Given the description of an element on the screen output the (x, y) to click on. 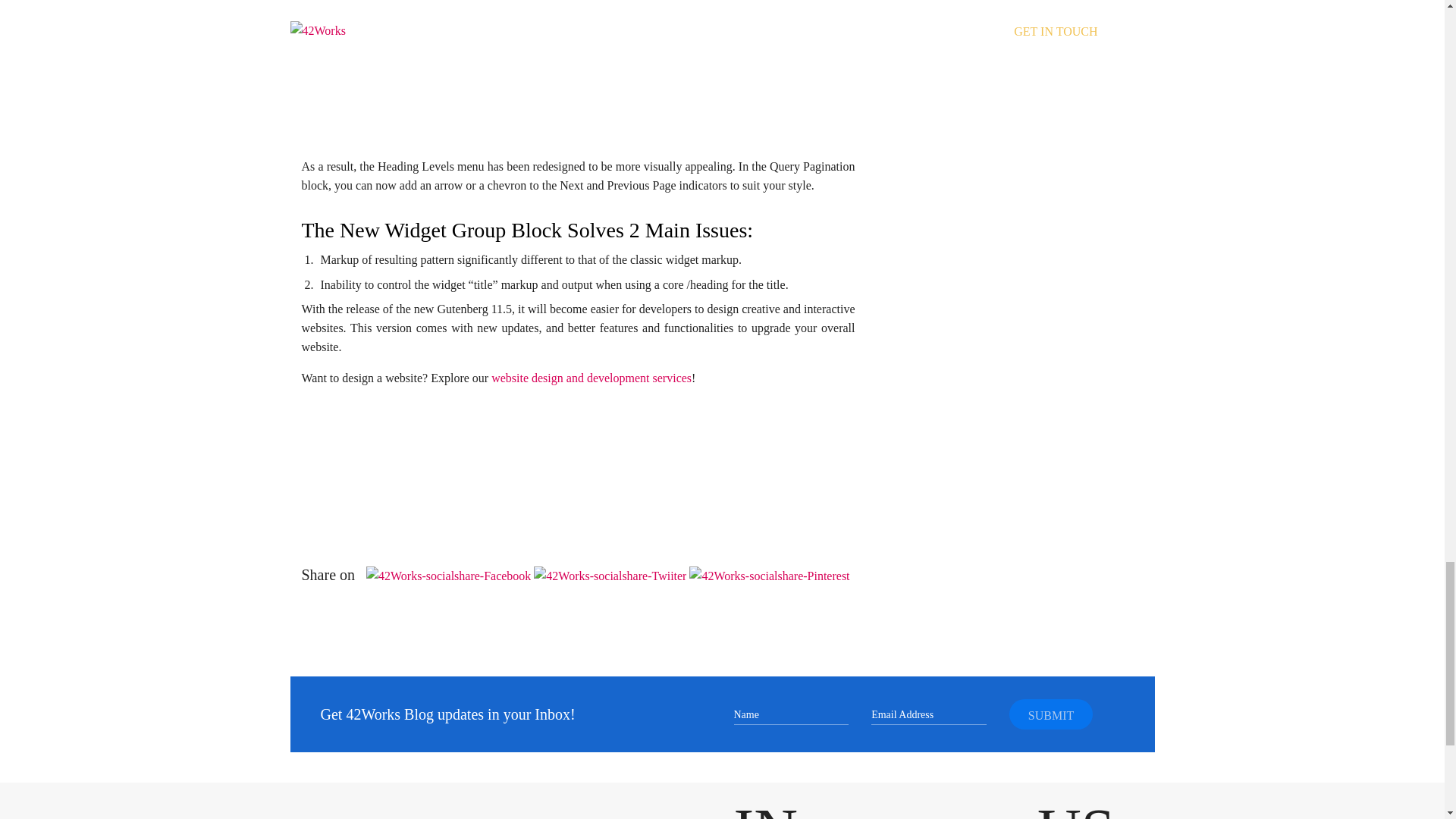
Click to share this post on Pinterest (768, 574)
SUBMIT (1051, 714)
SUBMIT (1051, 714)
Click to share this post on Twitter (611, 574)
website design and development services (591, 377)
